Given the description of an element on the screen output the (x, y) to click on. 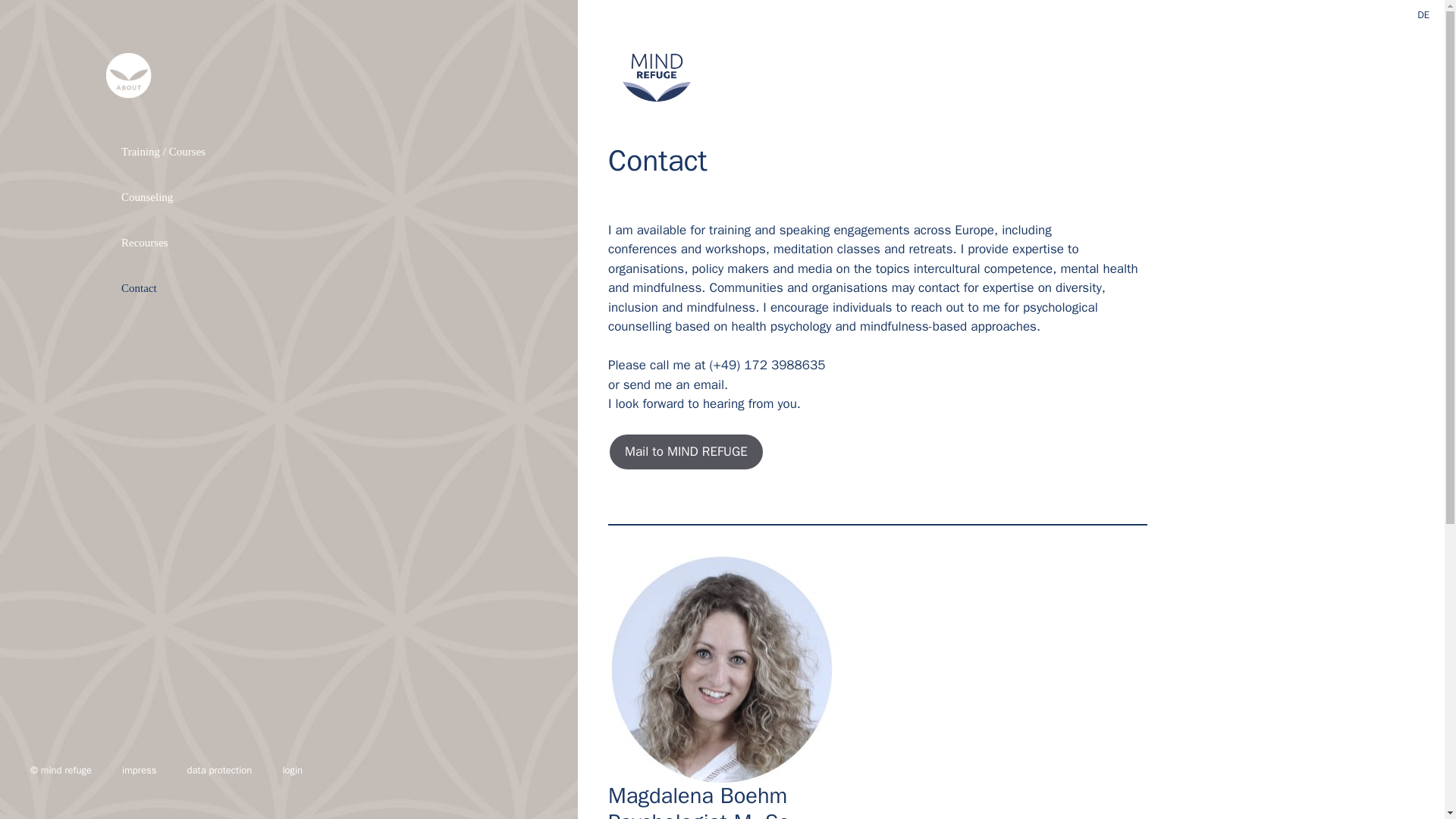
Contact (304, 288)
Counseling (304, 197)
data protection (218, 769)
login (291, 769)
Mail to MIND REFUGE (686, 451)
 About (304, 98)
impress (138, 769)
Recourses (304, 242)
